Given the description of an element on the screen output the (x, y) to click on. 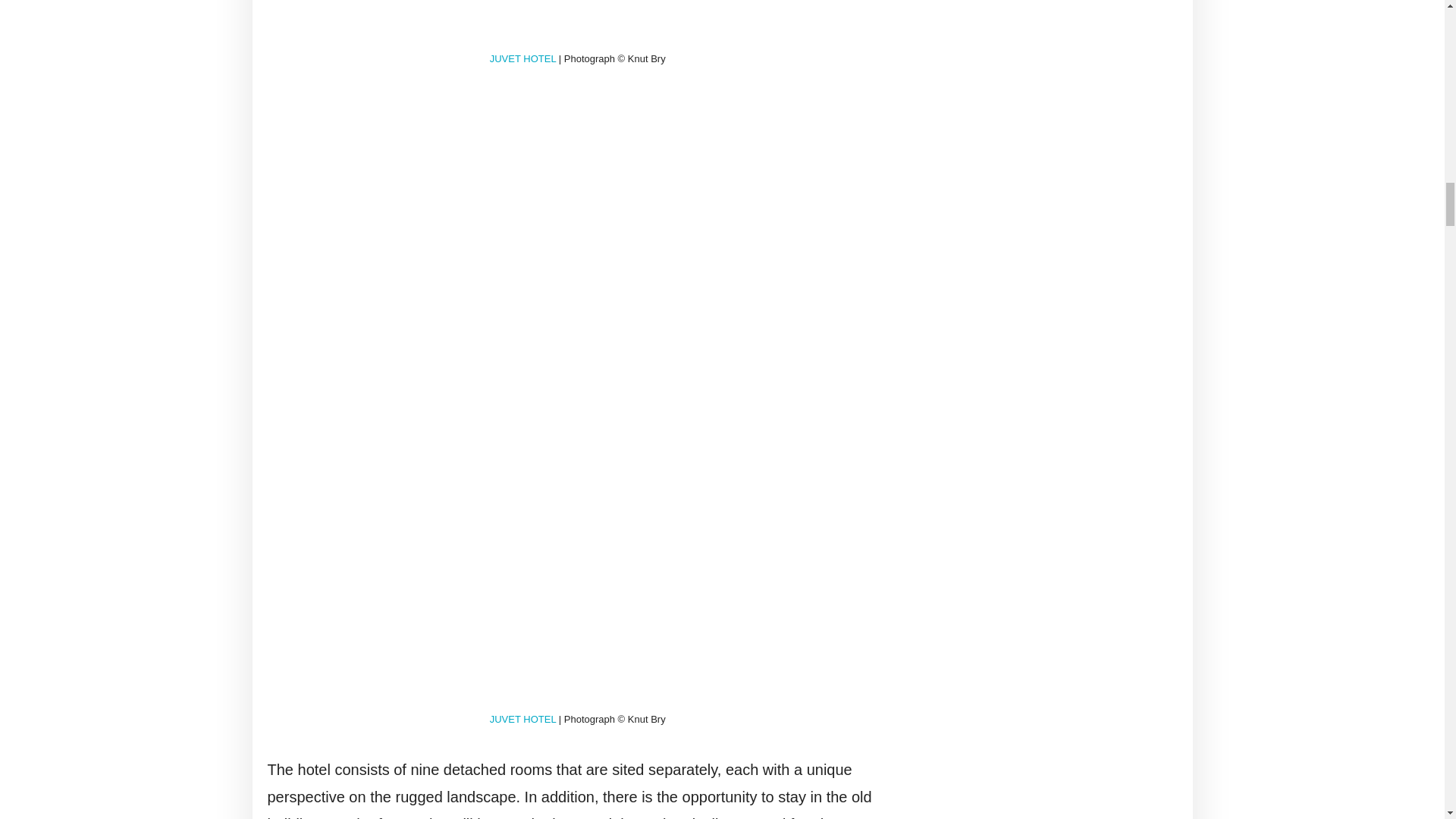
JUVET HOTEL (522, 58)
JUVET HOTEL (522, 718)
